Given the description of an element on the screen output the (x, y) to click on. 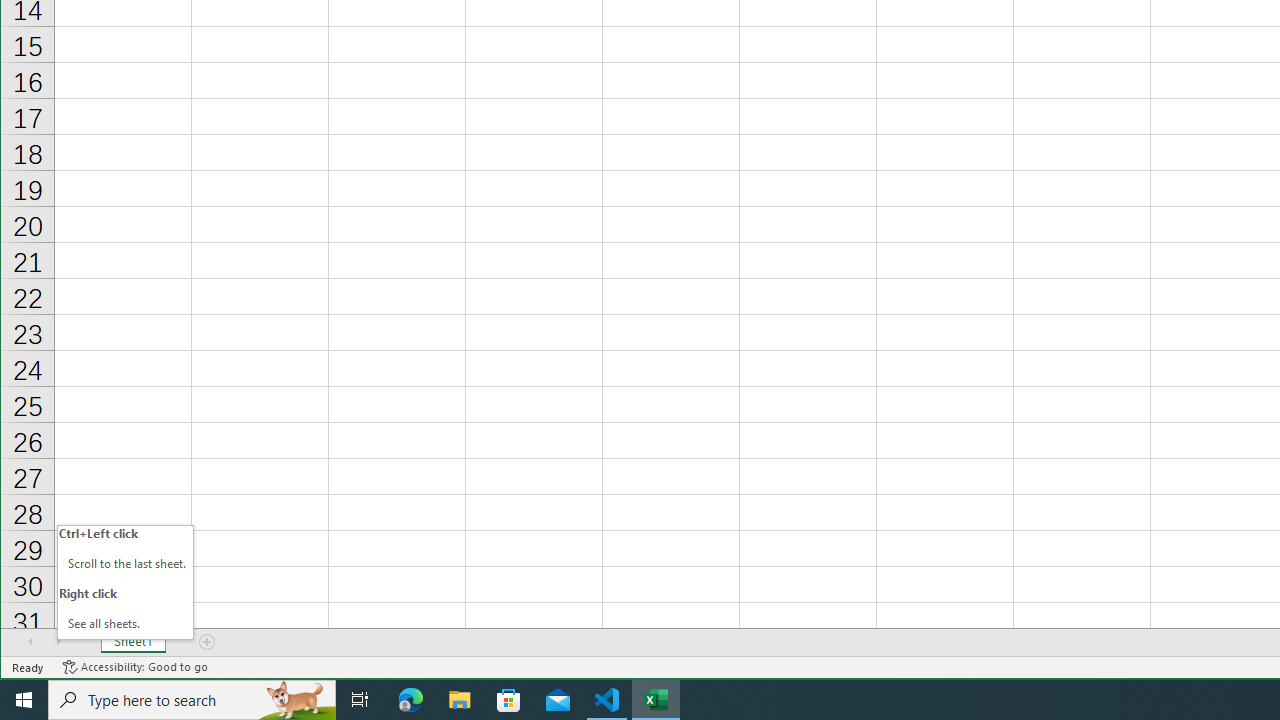
Type here to search (191, 699)
Search highlights icon opens search home window (295, 699)
Start (24, 699)
Microsoft Store (509, 699)
Task View (359, 699)
File Explorer (460, 699)
Microsoft Edge (411, 699)
Excel - 1 running window (656, 699)
Visual Studio Code - 1 running window (607, 699)
